Given the description of an element on the screen output the (x, y) to click on. 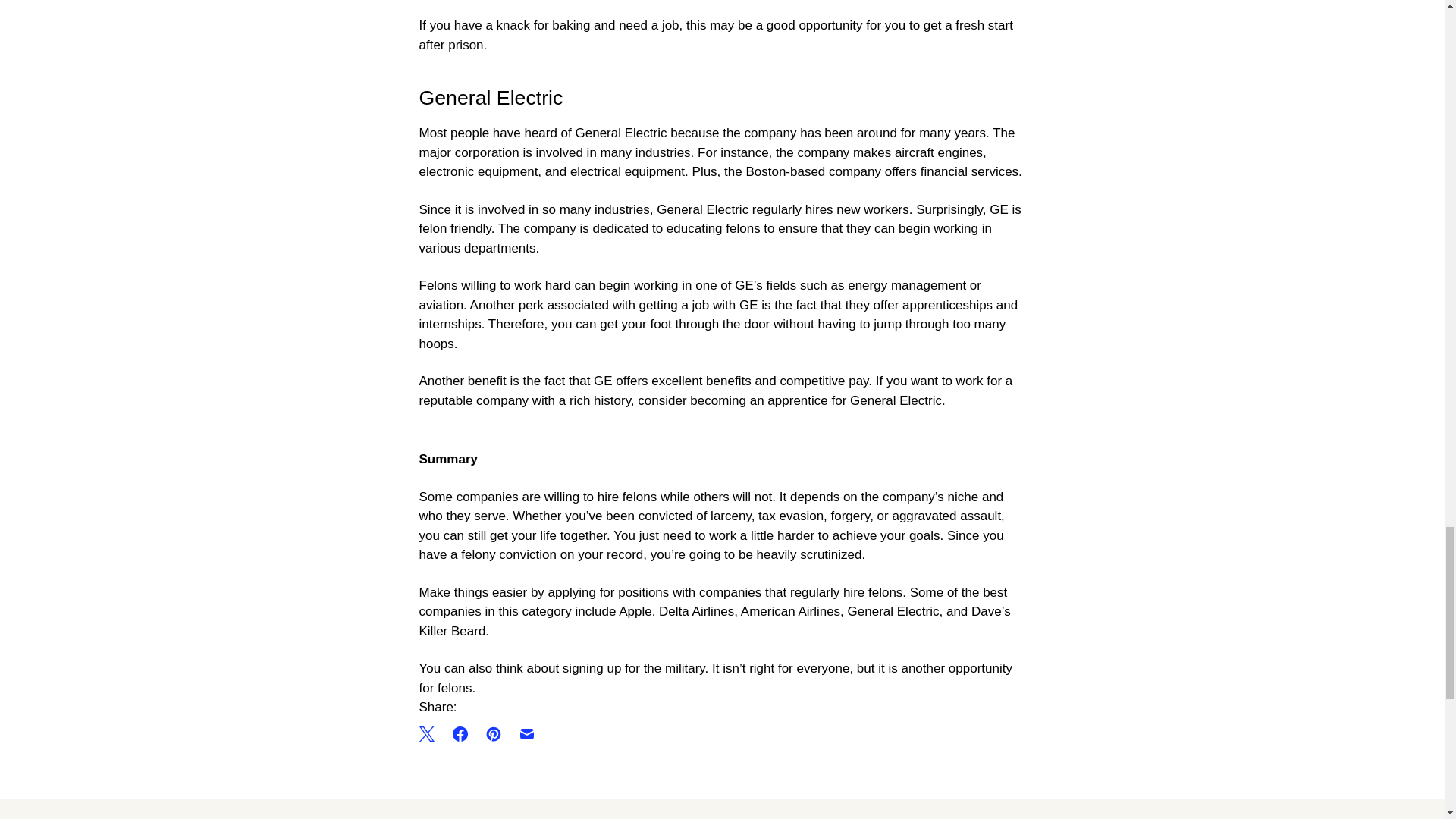
Share this on Facebook (459, 734)
Share this on Pinterest (492, 734)
Email this to a friend (526, 734)
